Given the description of an element on the screen output the (x, y) to click on. 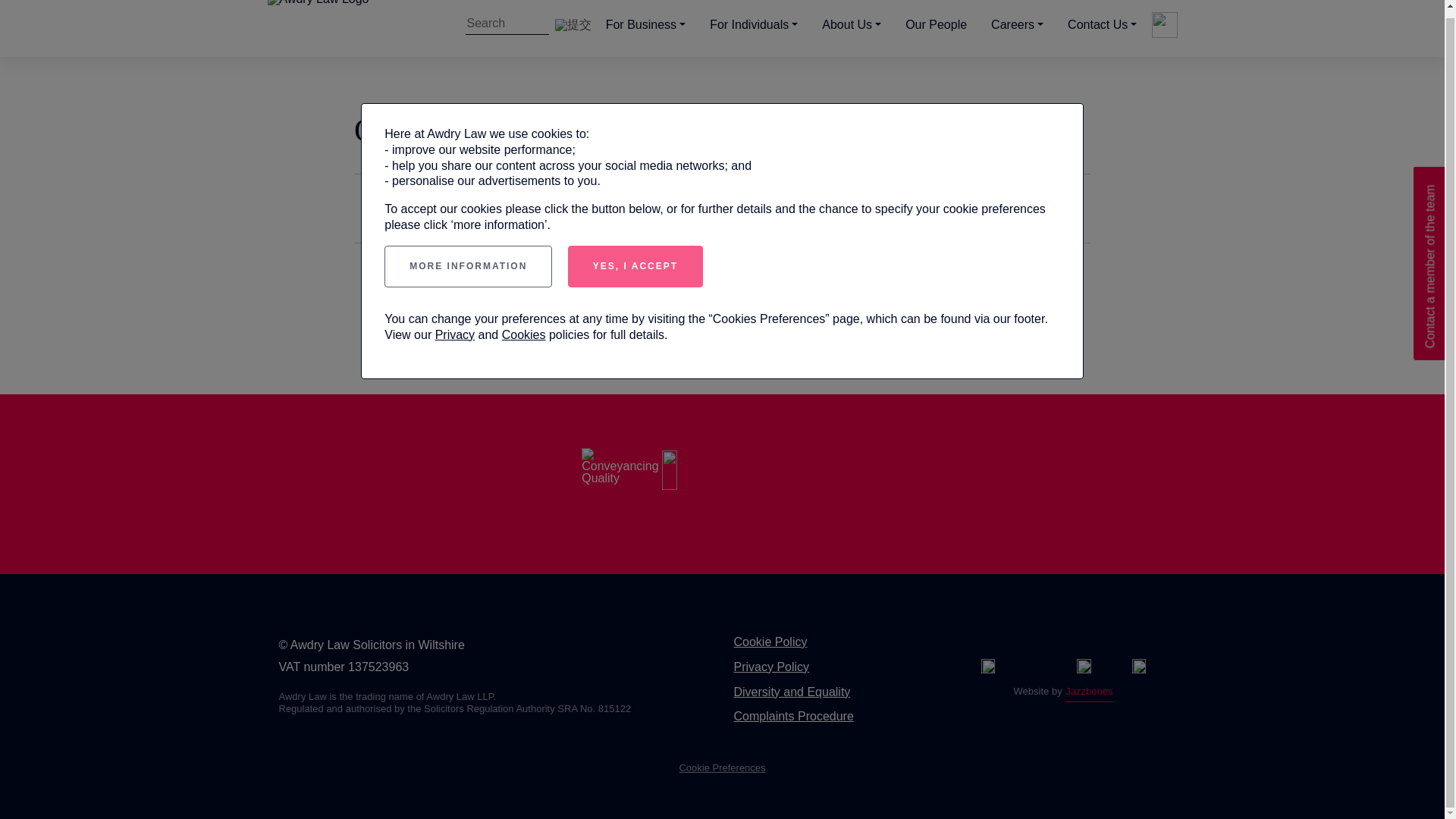
Careers (1016, 24)
Awdrys on Facebook (987, 666)
For Individuals (753, 24)
Search: (506, 25)
About Us (851, 24)
Diversity and Equality Report (791, 691)
Contact Us (1101, 24)
Privacy Policy (771, 666)
MORE INFORMATION (467, 266)
Cookie Policy (770, 641)
